Given the description of an element on the screen output the (x, y) to click on. 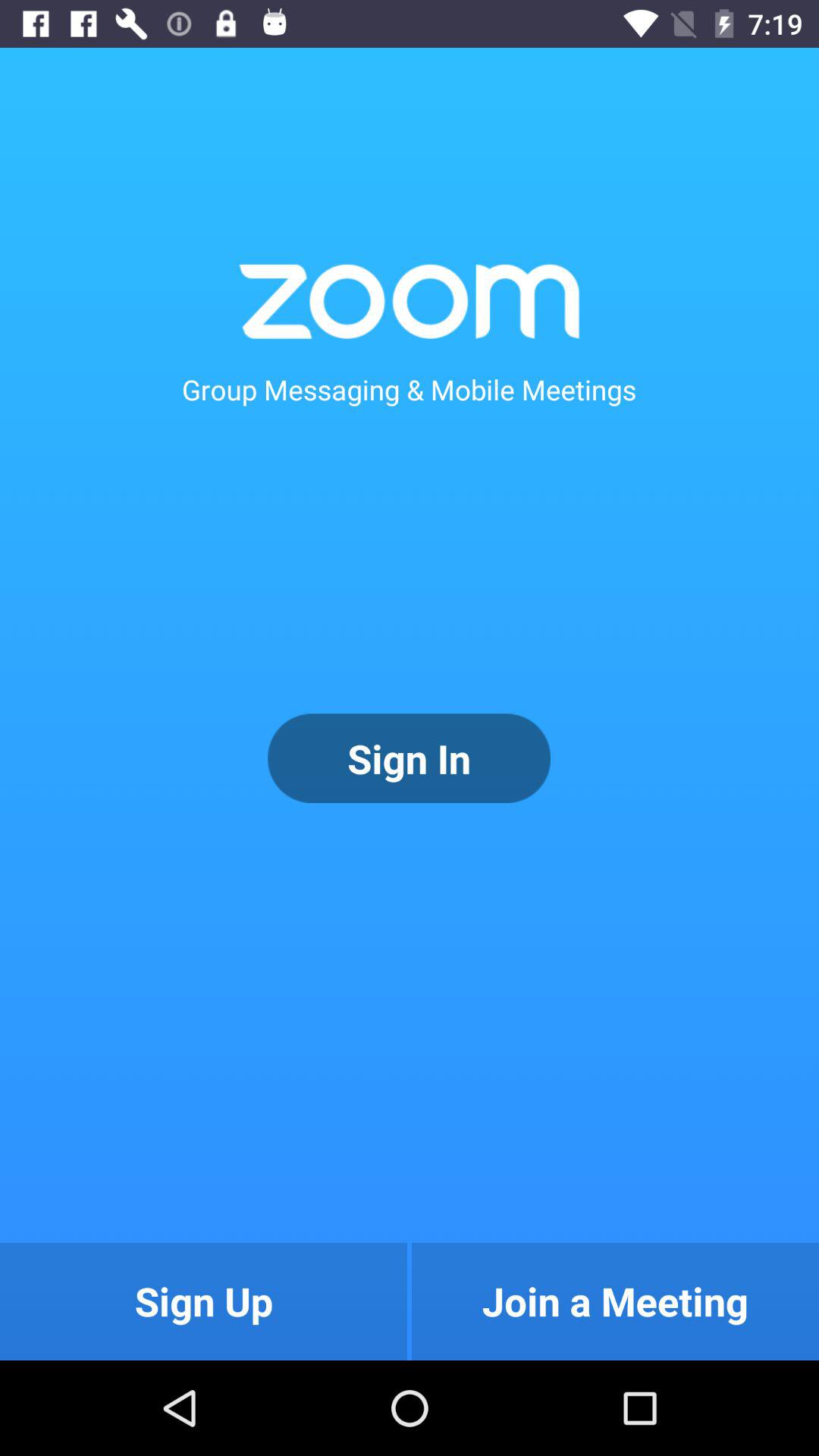
turn on the button to the left of the join a meeting button (203, 1301)
